Given the description of an element on the screen output the (x, y) to click on. 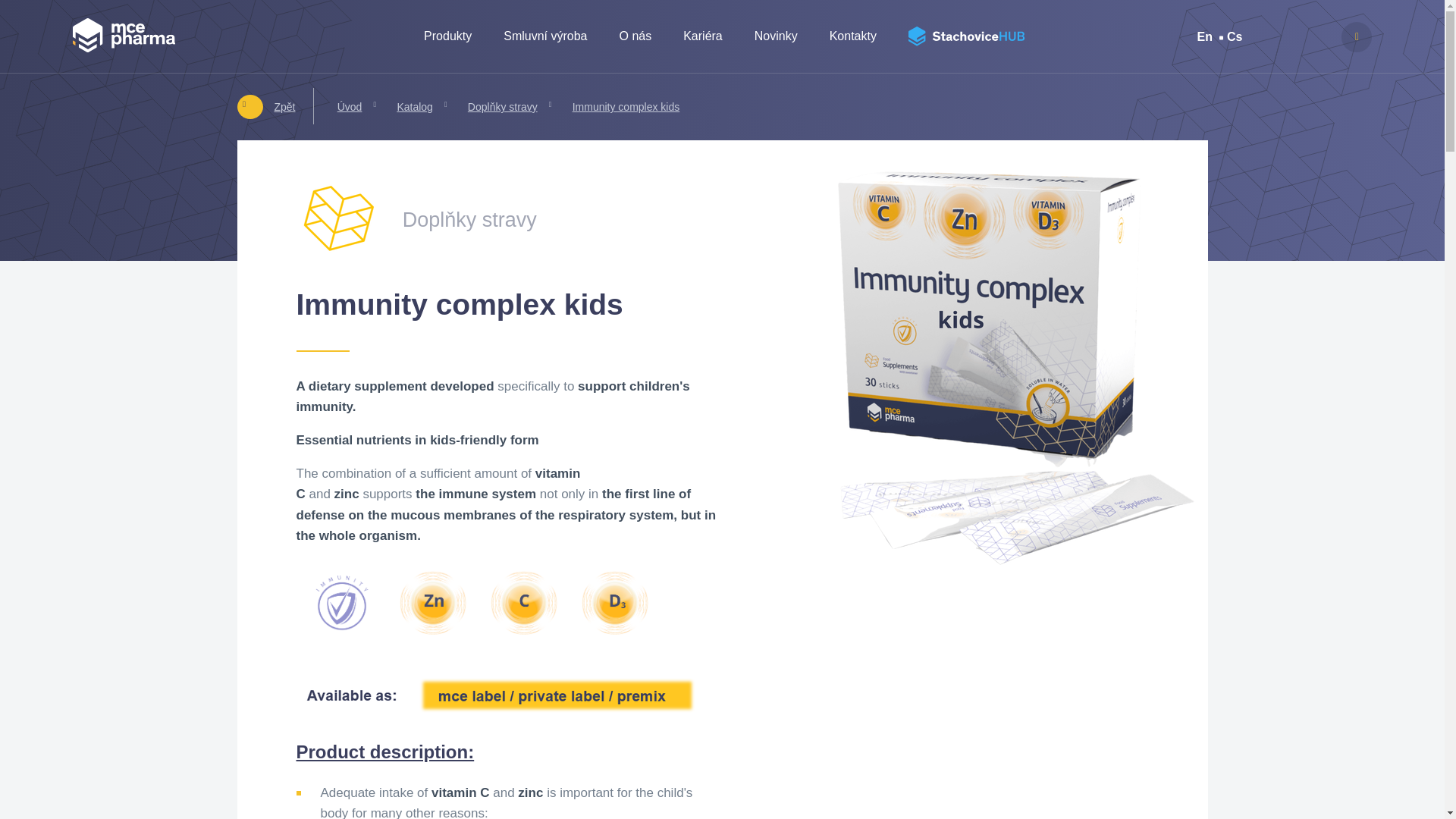
Produkty (447, 35)
Katalog (414, 106)
Kontakty (852, 35)
Novinky (775, 35)
Immunity complex kids (626, 106)
